Given the description of an element on the screen output the (x, y) to click on. 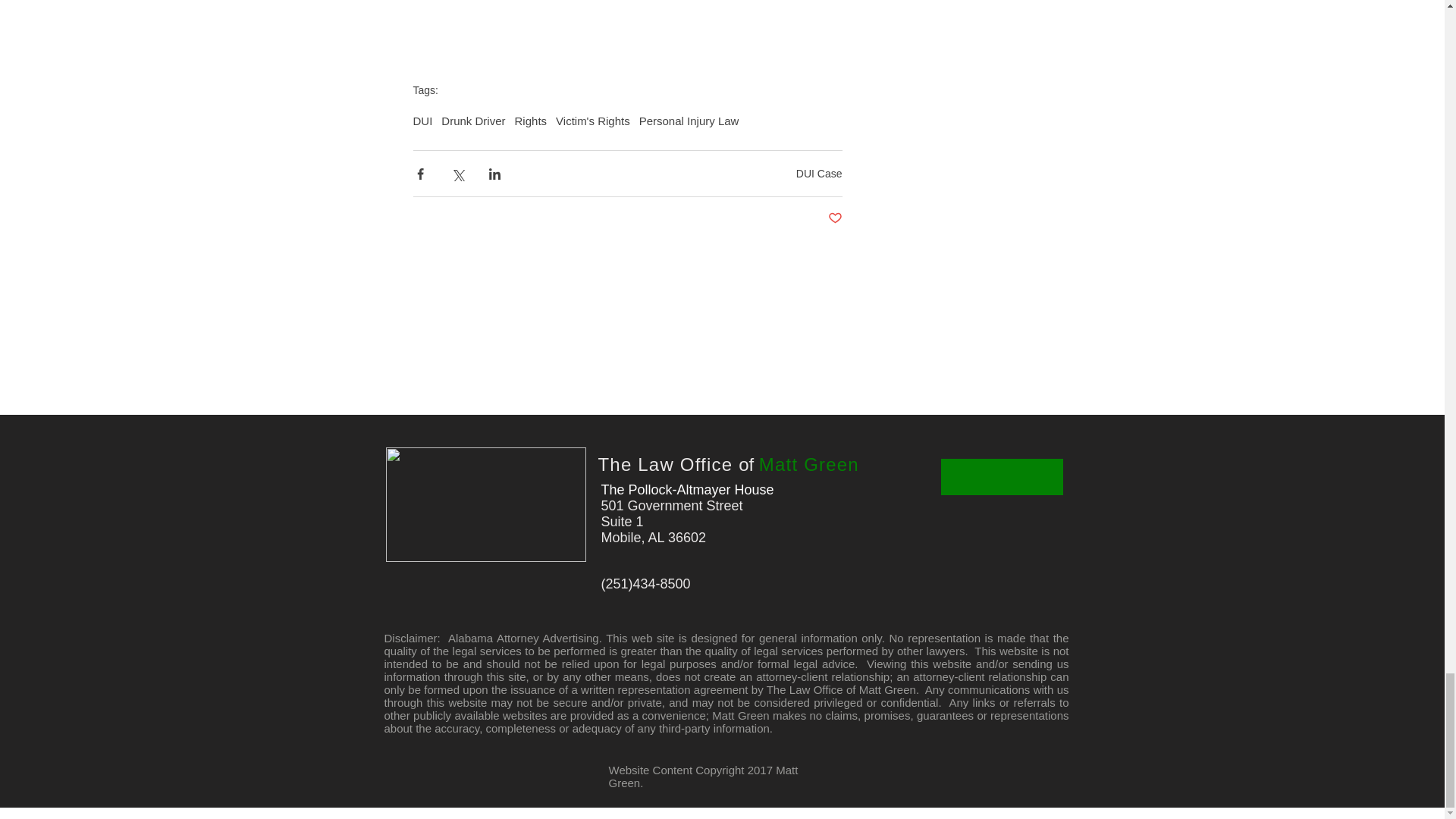
DUI Case (819, 173)
Victim's Rights (593, 120)
Post not marked as liked (835, 218)
Drunk Driver (473, 120)
Personal Injury Law (689, 120)
DUI (422, 120)
Rights (531, 120)
